Given the description of an element on the screen output the (x, y) to click on. 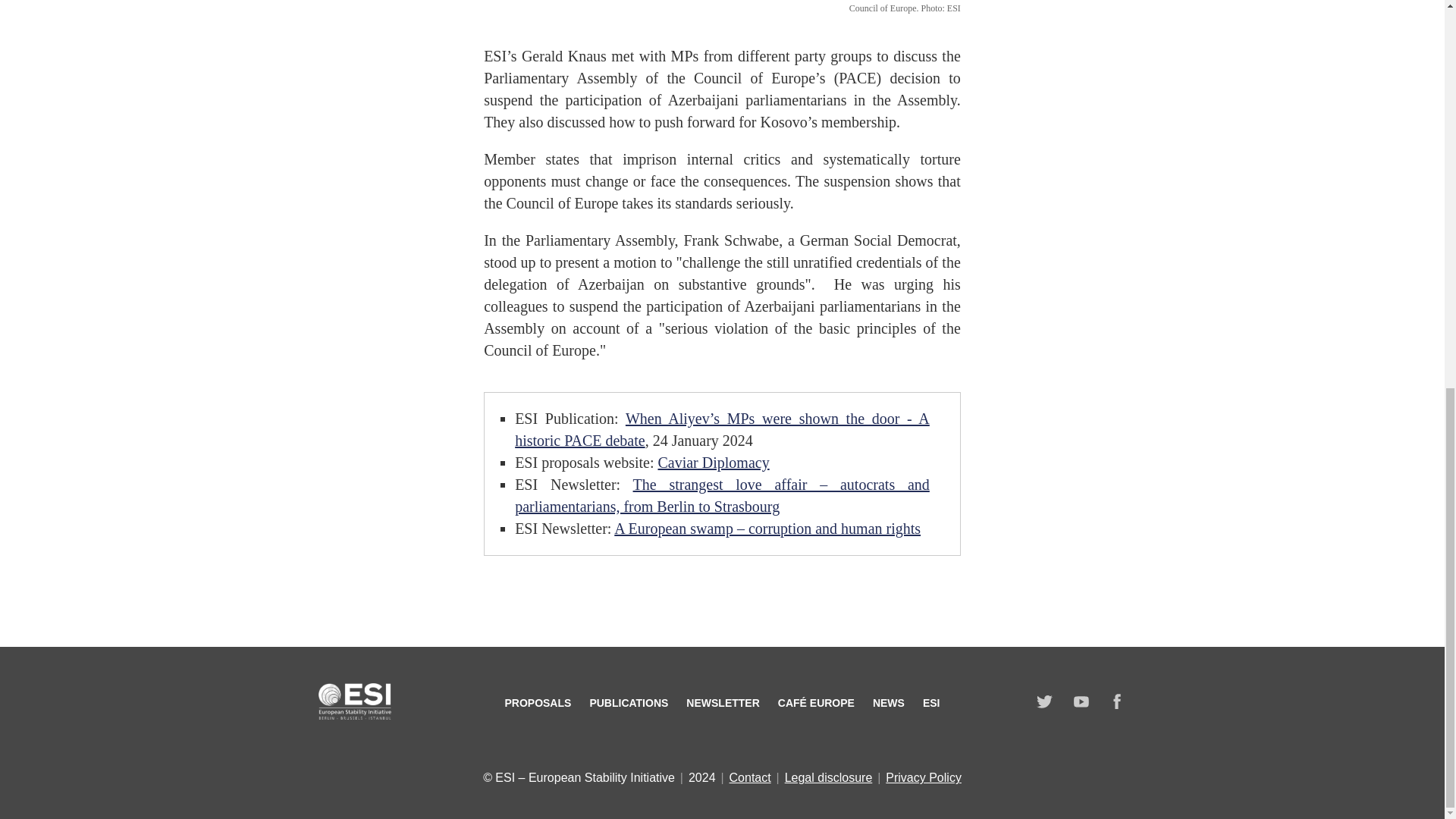
Caviar Diplomacy (713, 462)
ESI (931, 703)
NEWSLETTER (721, 703)
PUBLICATIONS (628, 703)
PROPOSALS (536, 703)
NEWS (888, 703)
